Given the description of an element on the screen output the (x, y) to click on. 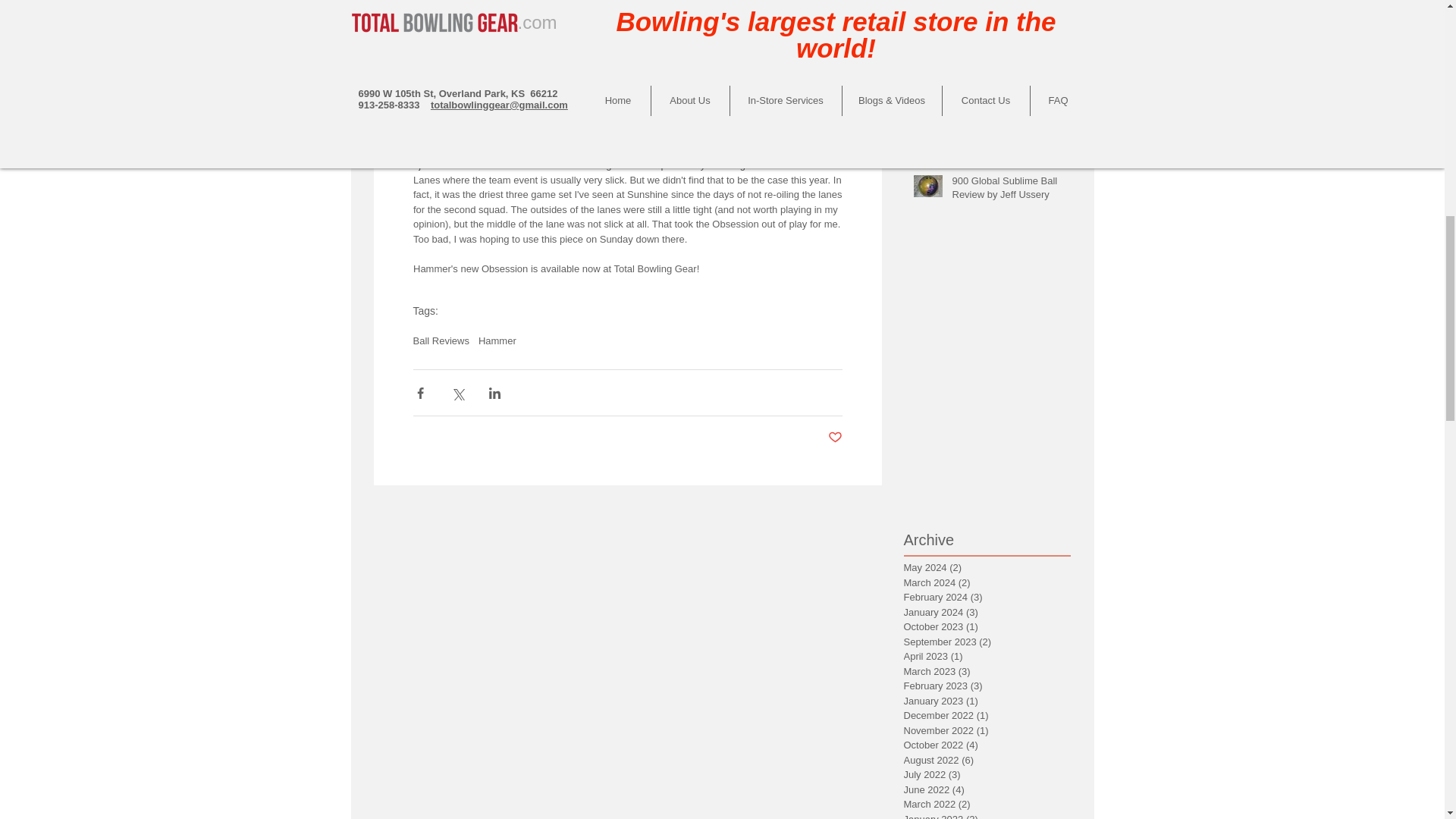
Ball Reviews (440, 340)
Hammer NU Blue Ball Review by Jeff Ussery (1006, 106)
Hammer (497, 340)
900 Global Harsh Reality Ball Review by Jeff Ussery (1006, 29)
Post not marked as liked (835, 437)
900 Global Sublime Ball Review by Jeff Ussery (1006, 191)
